Given the description of an element on the screen output the (x, y) to click on. 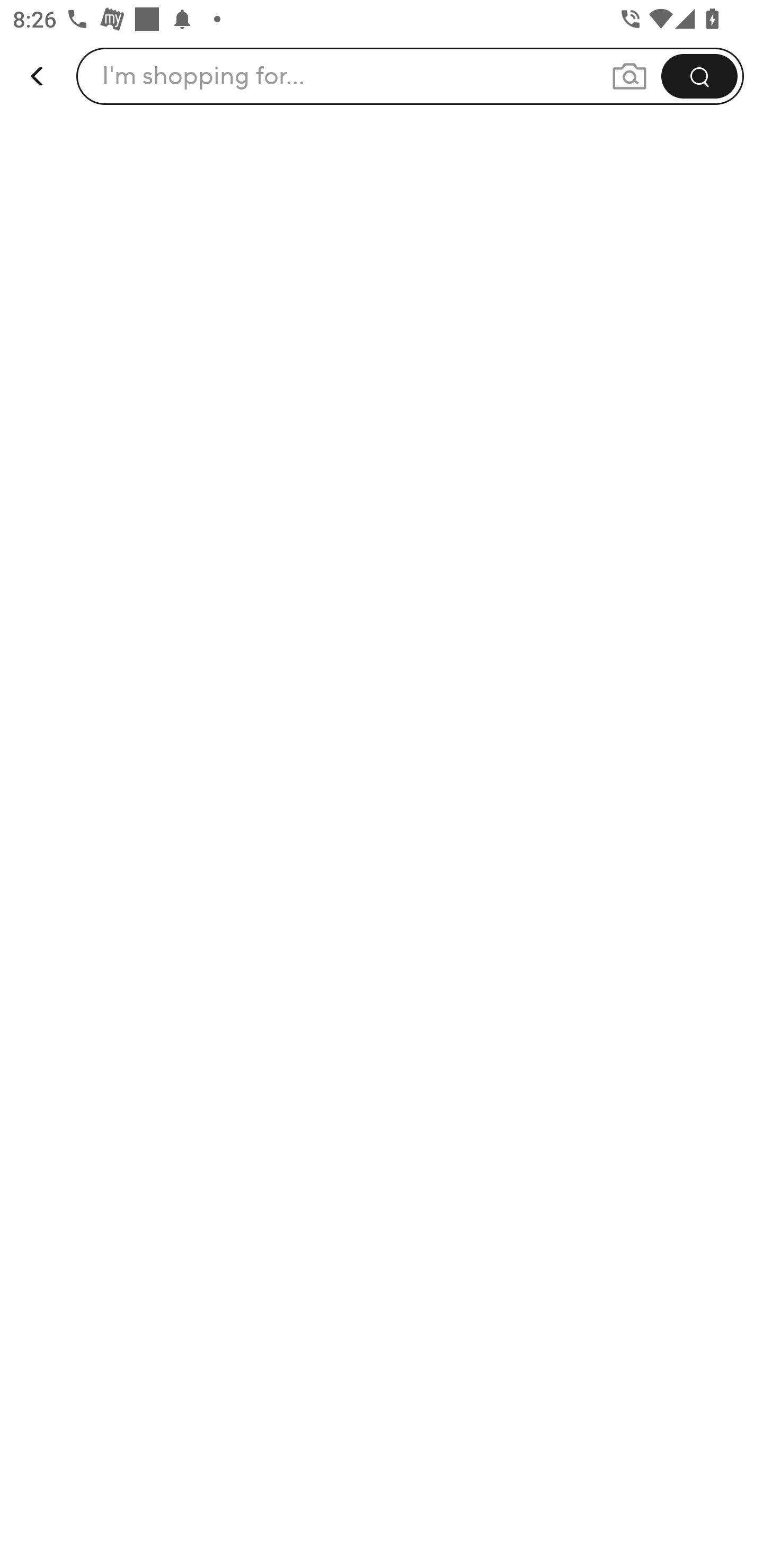
I'm shopping for… (203, 76)
